Given the description of an element on the screen output the (x, y) to click on. 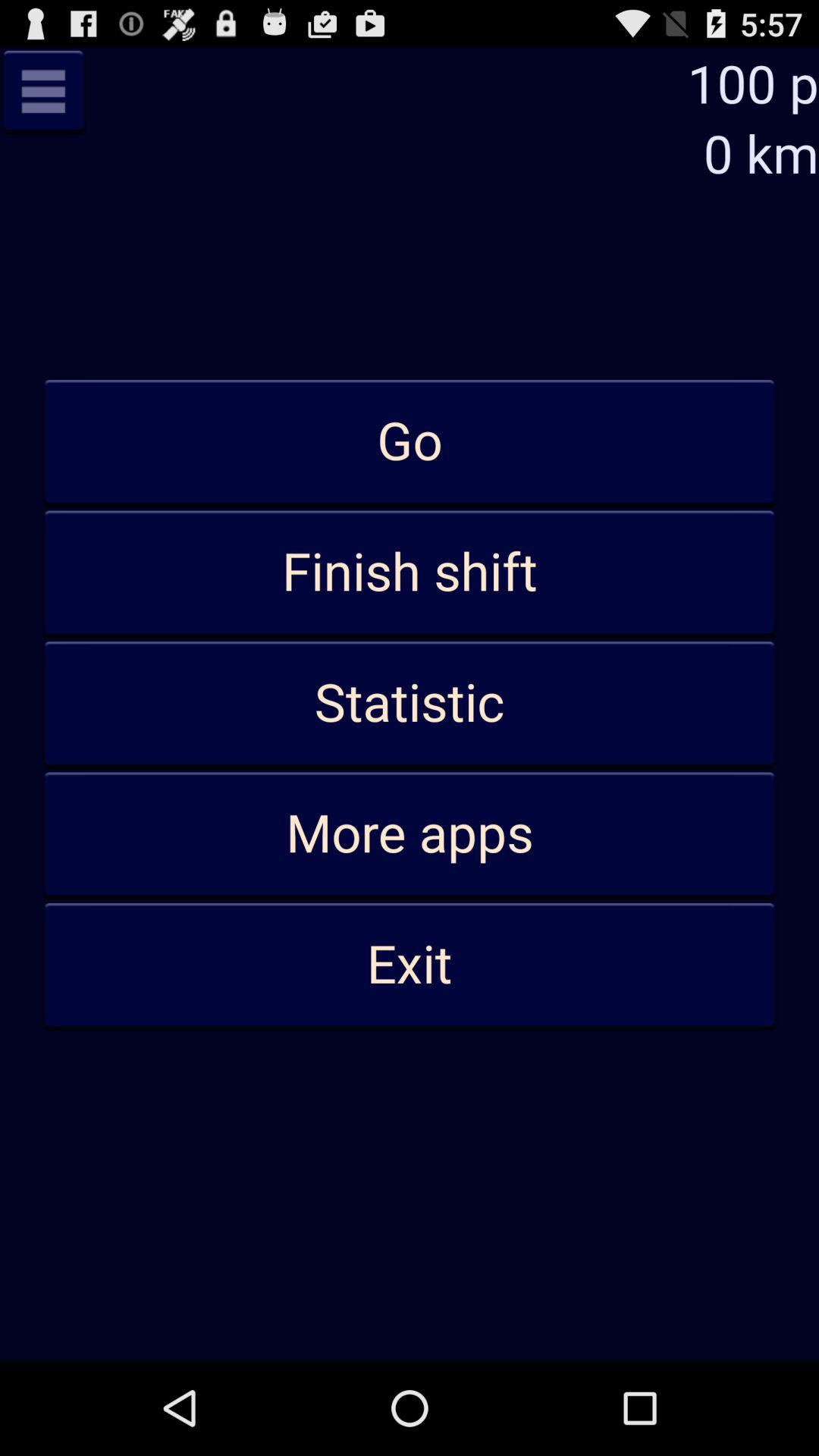
go to previous (43, 90)
